Given the description of an element on the screen output the (x, y) to click on. 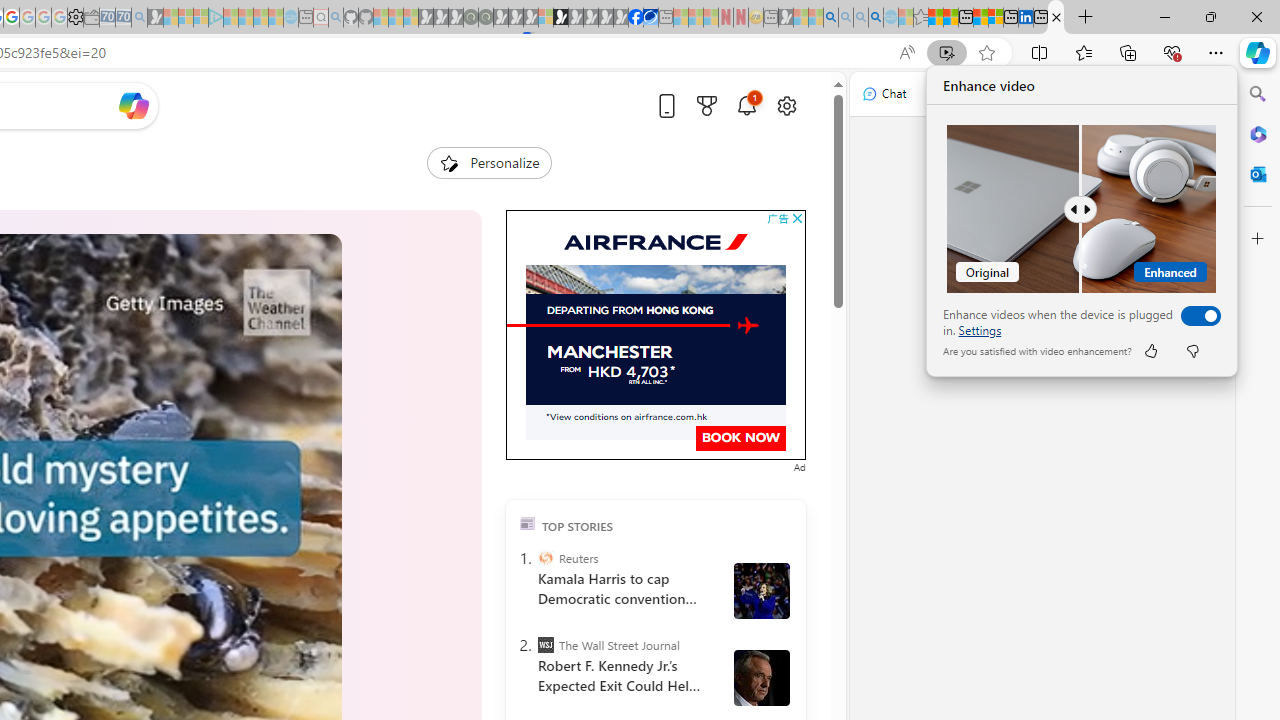
Reuters (545, 557)
Bing AI - Search (831, 17)
